Given the description of an element on the screen output the (x, y) to click on. 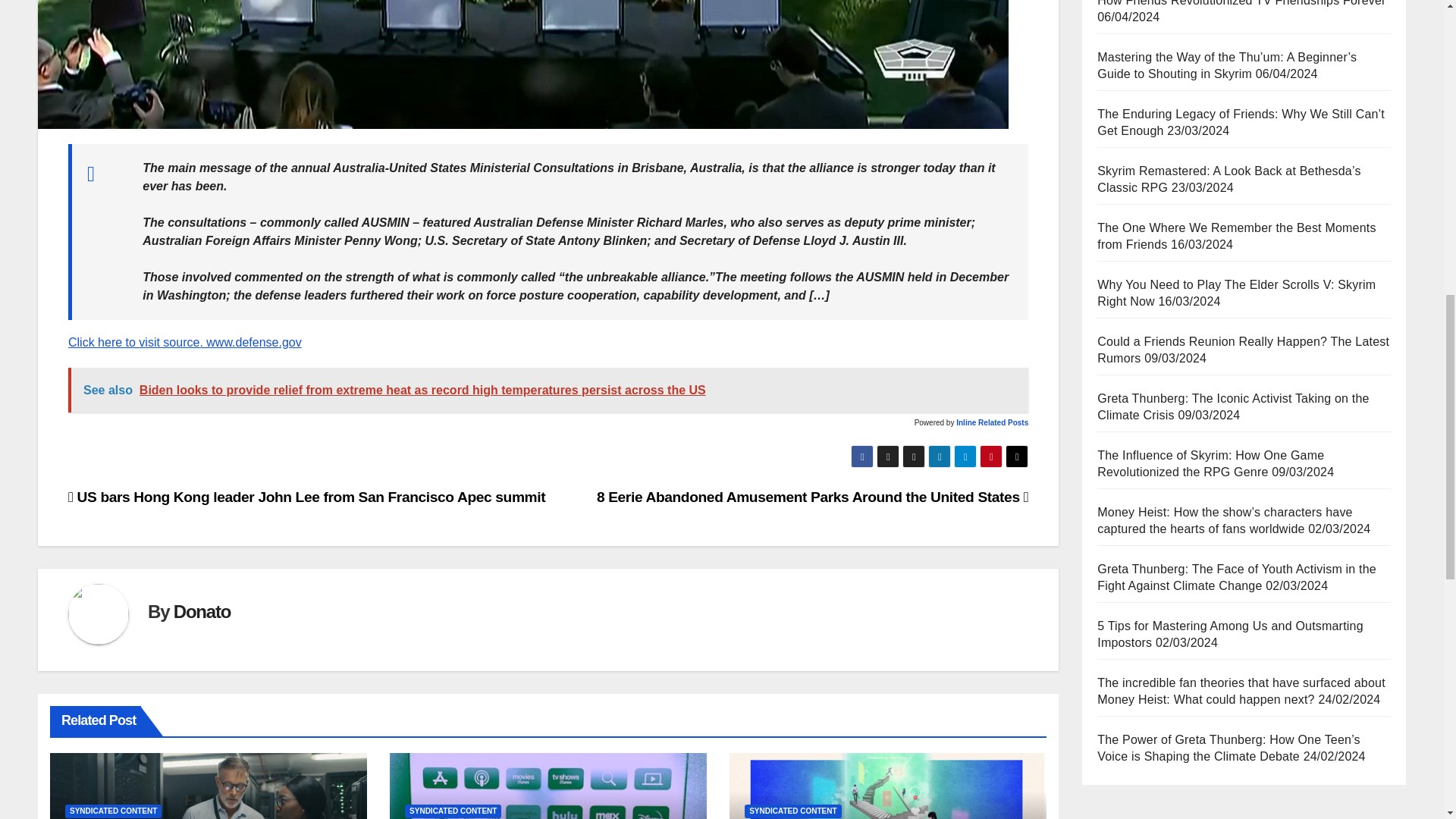
Donato (201, 611)
Inline Related Posts (991, 422)
SYNDICATED CONTENT (452, 811)
SYNDICATED CONTENT (113, 811)
Click here to visit source. www.defense.gov (184, 341)
8 Eerie Abandoned Amusement Parks Around the United States (811, 496)
SYNDICATED CONTENT (792, 811)
